Given the description of an element on the screen output the (x, y) to click on. 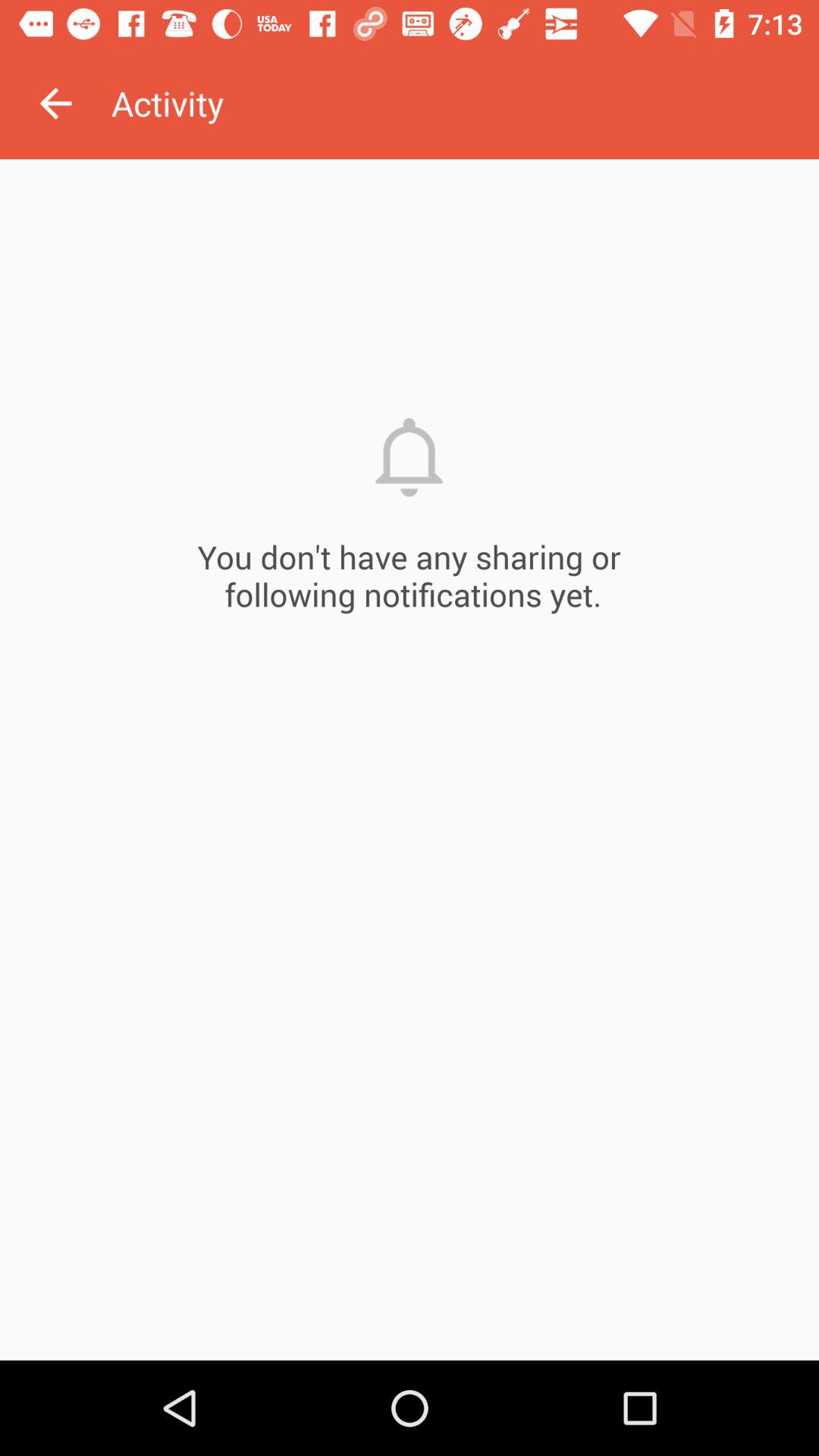
jump to activity icon (465, 103)
